Given the description of an element on the screen output the (x, y) to click on. 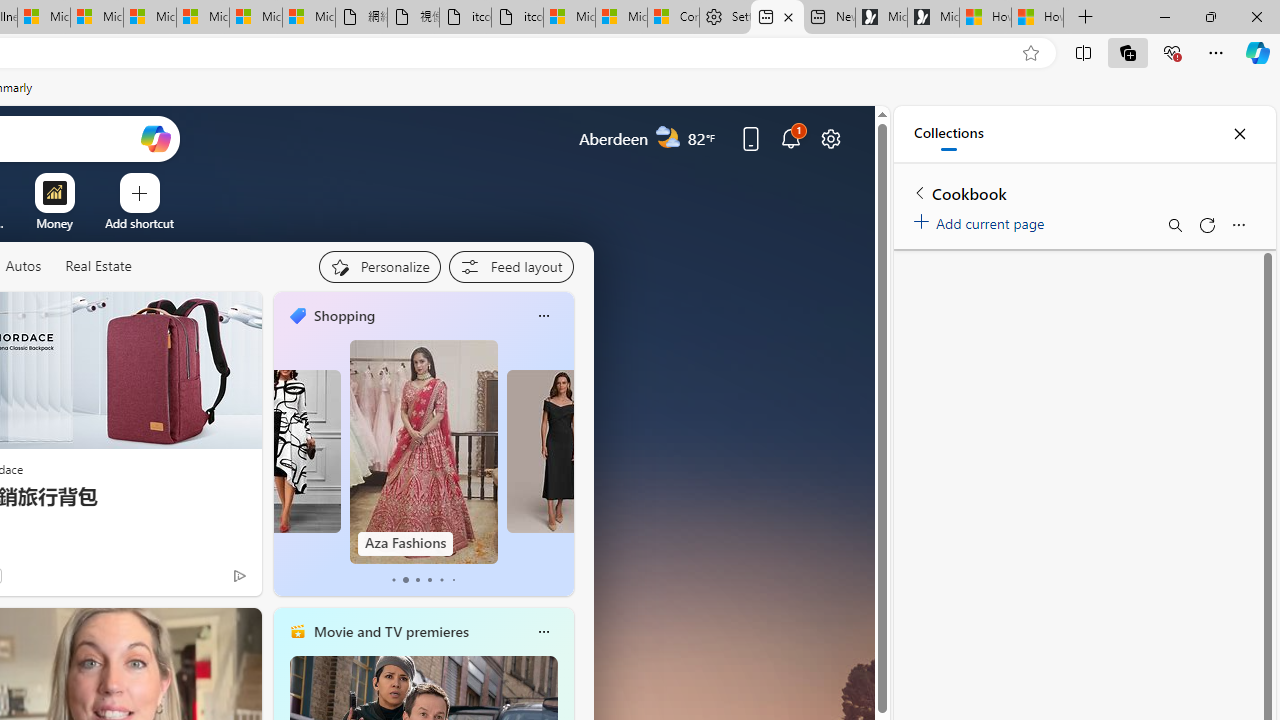
Personalize your feed" (379, 266)
Add a site (139, 223)
tab-0 (392, 579)
